Given the description of an element on the screen output the (x, y) to click on. 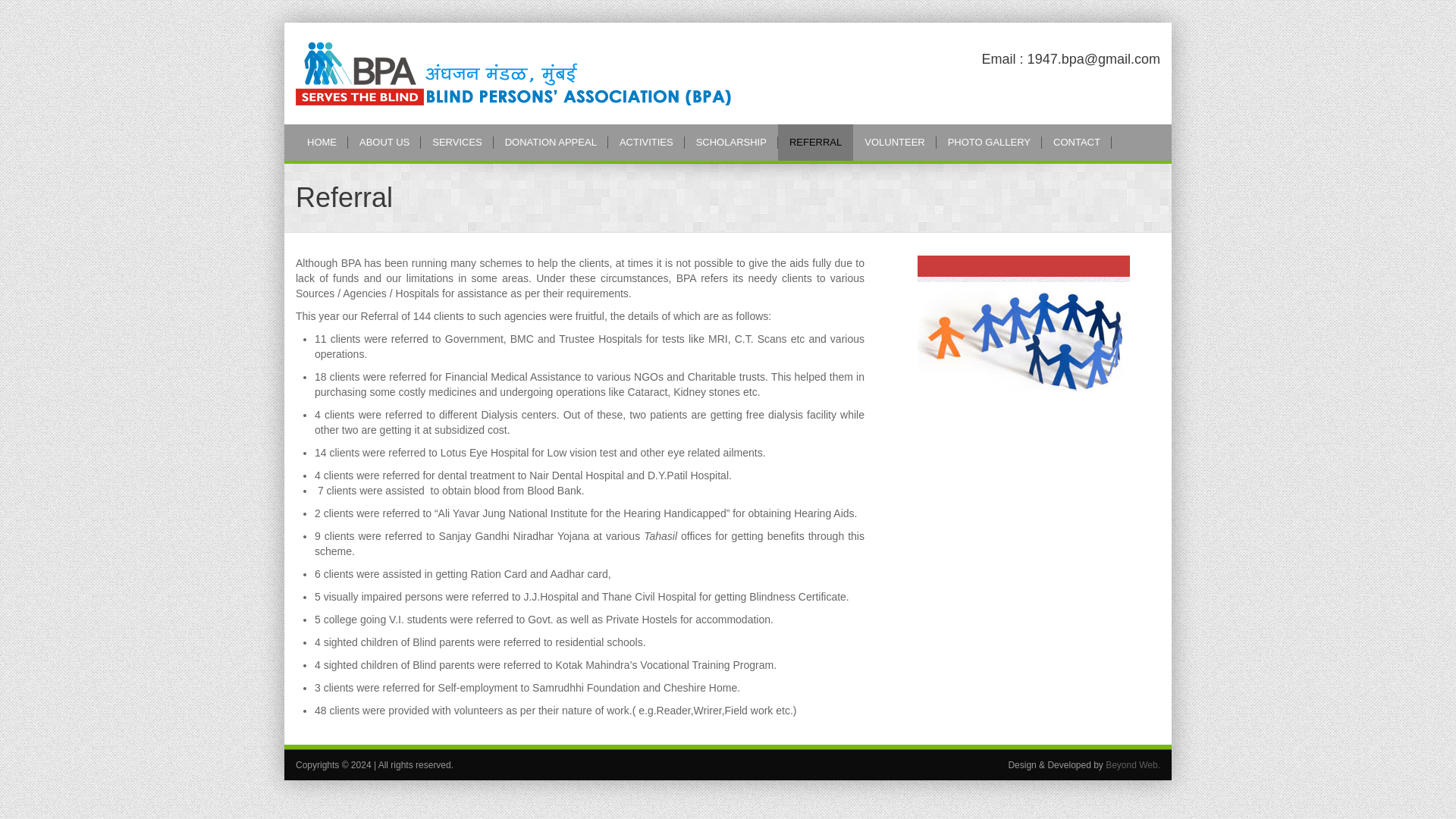
HOME (321, 142)
ABOUT US (383, 142)
